Given the description of an element on the screen output the (x, y) to click on. 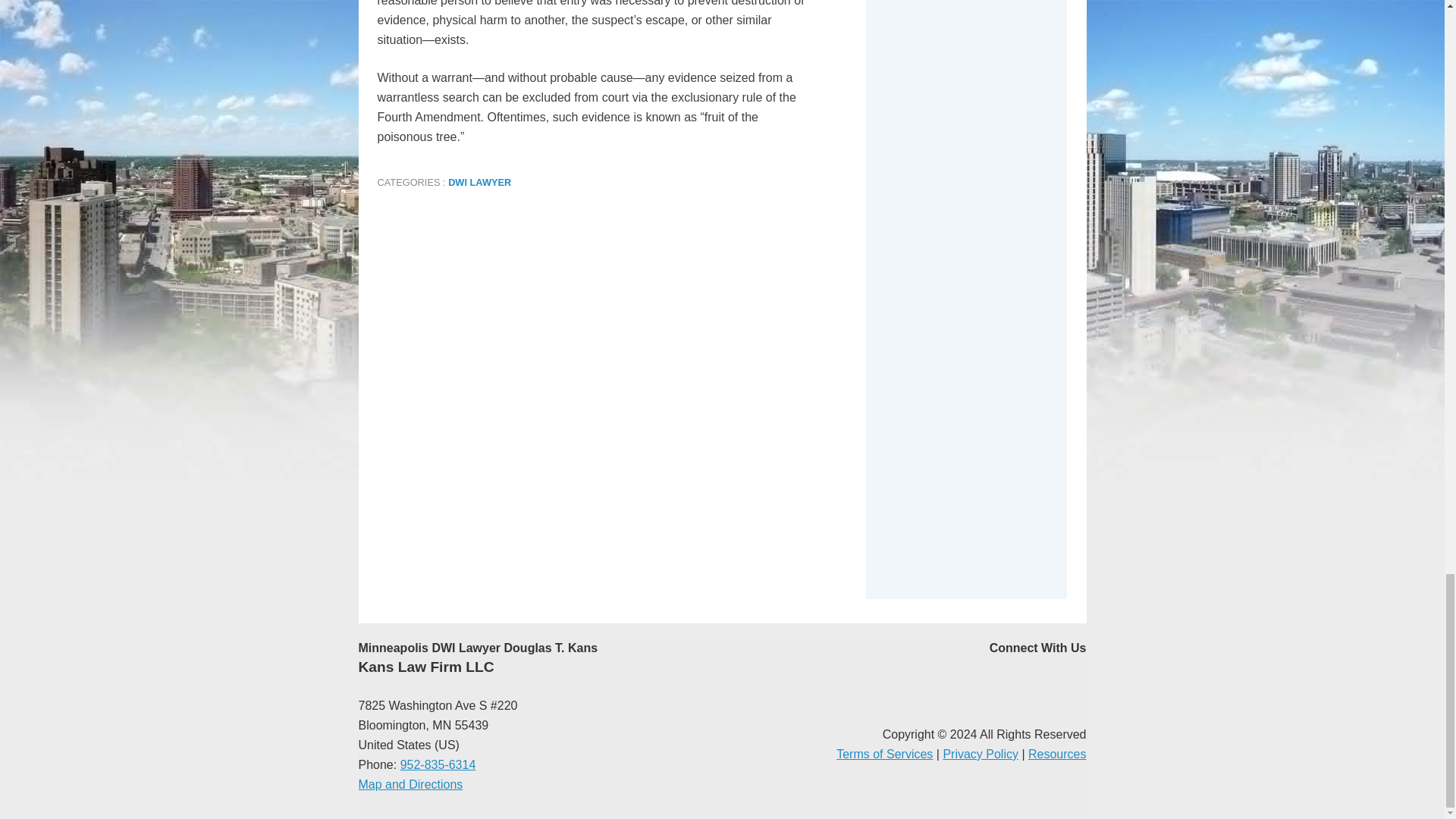
DWI LAWYER (479, 182)
